Given the description of an element on the screen output the (x, y) to click on. 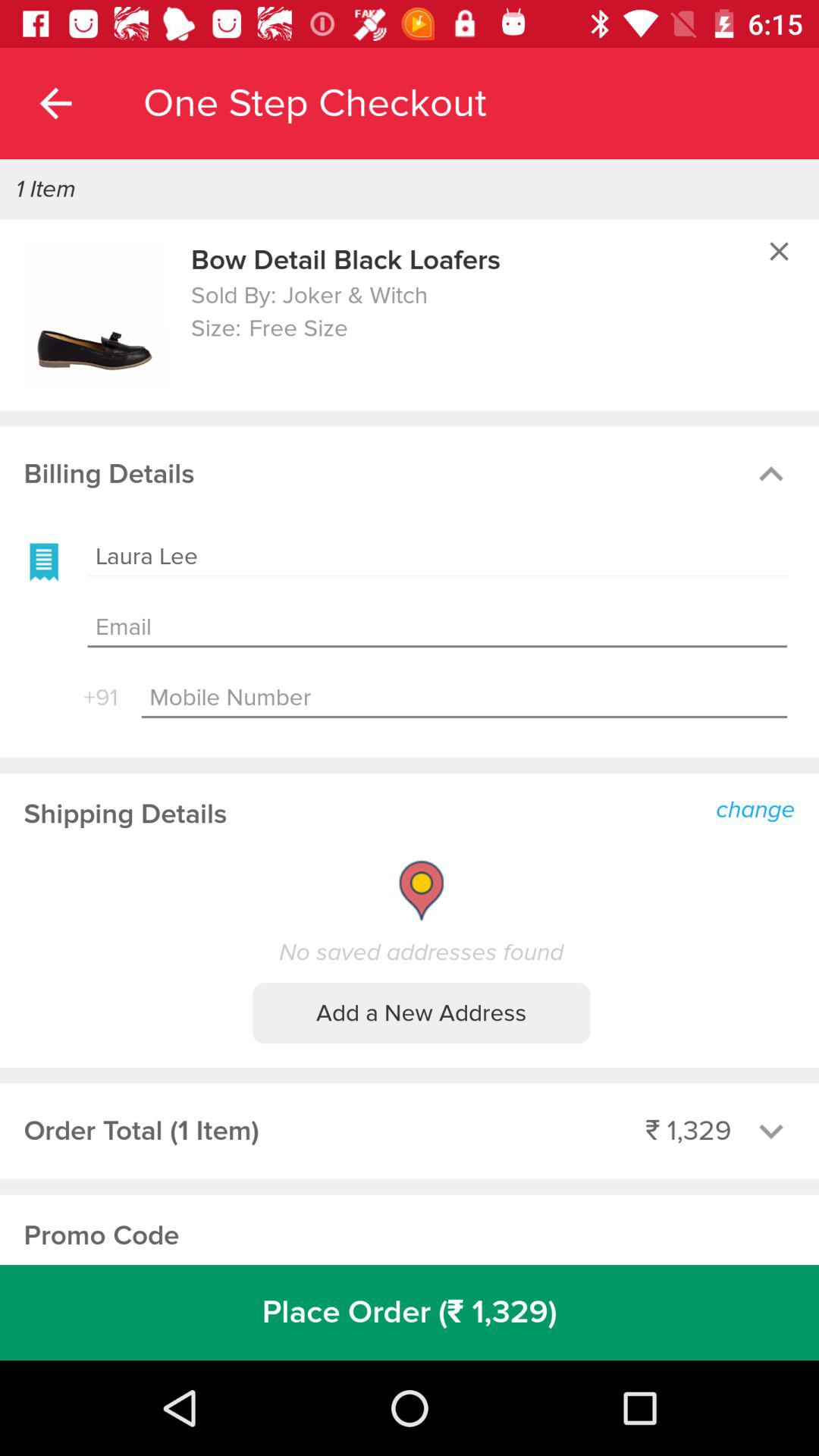
close (779, 251)
